Given the description of an element on the screen output the (x, y) to click on. 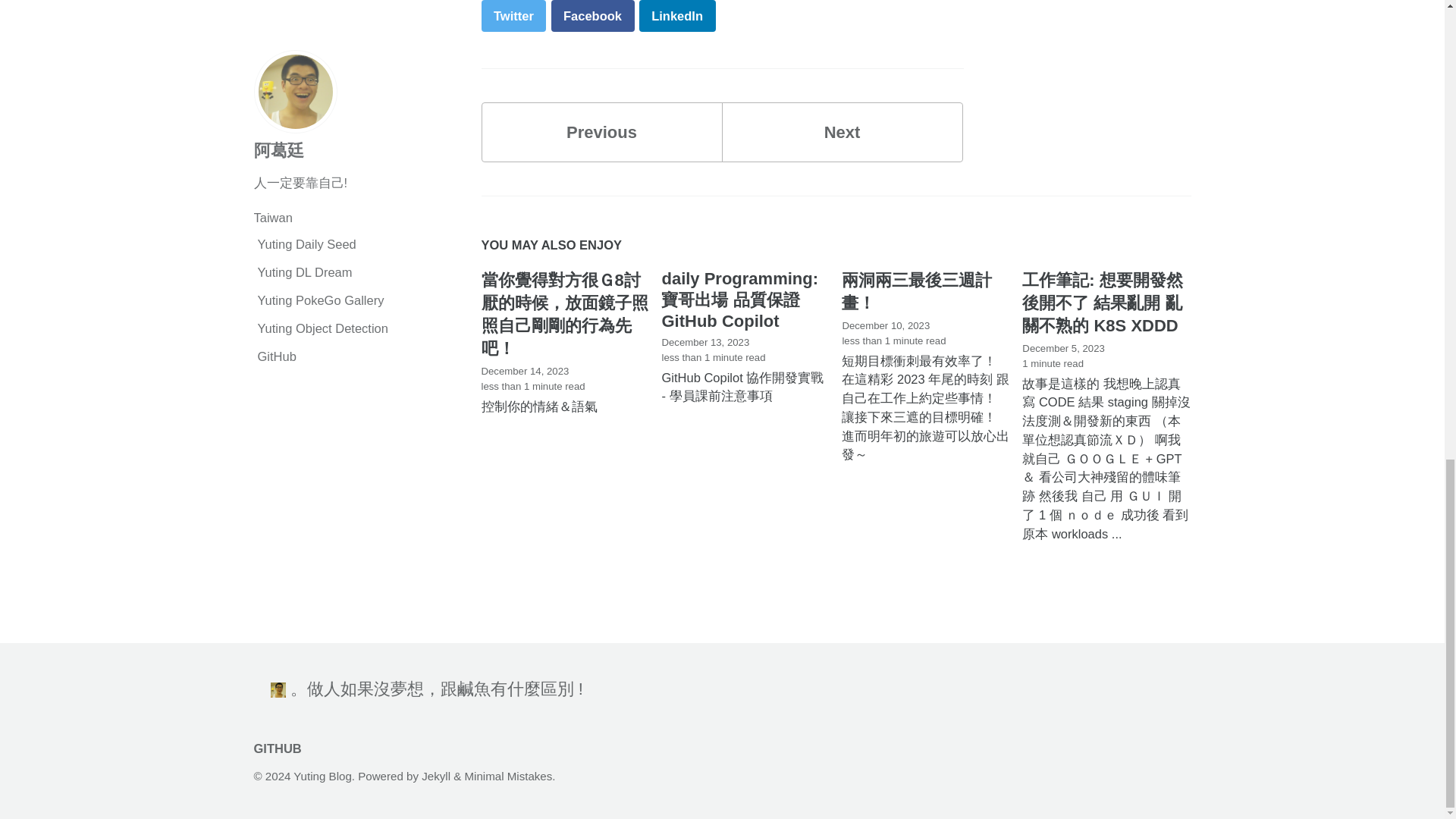
LinkedIn (677, 15)
Share on LinkedIn (677, 15)
Share on Twitter (513, 15)
Next (842, 132)
Facebook (591, 15)
Share on Facebook (591, 15)
Minimal Mistakes (507, 775)
Twitter (513, 15)
Jekyll (435, 775)
GITHUB (280, 748)
